Given the description of an element on the screen output the (x, y) to click on. 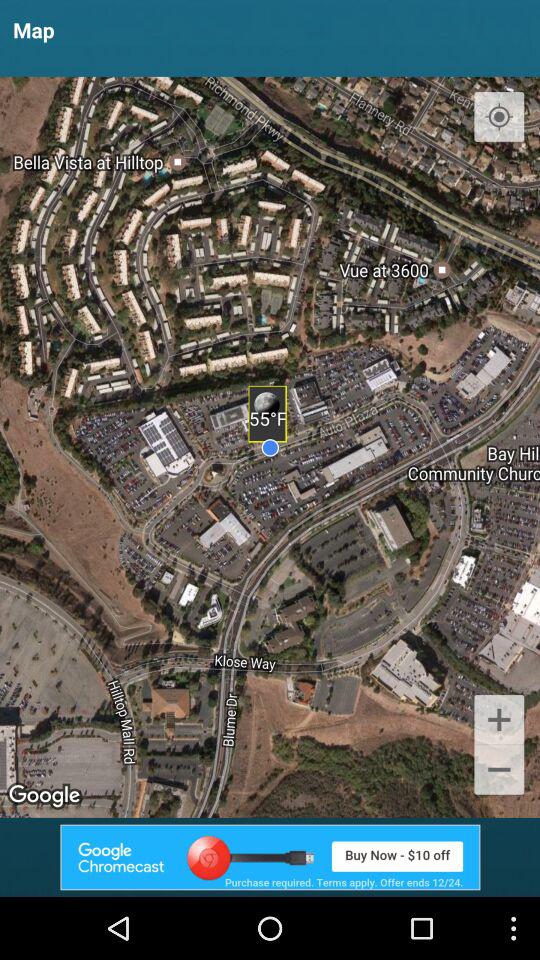
for add (270, 857)
